Given the description of an element on the screen output the (x, y) to click on. 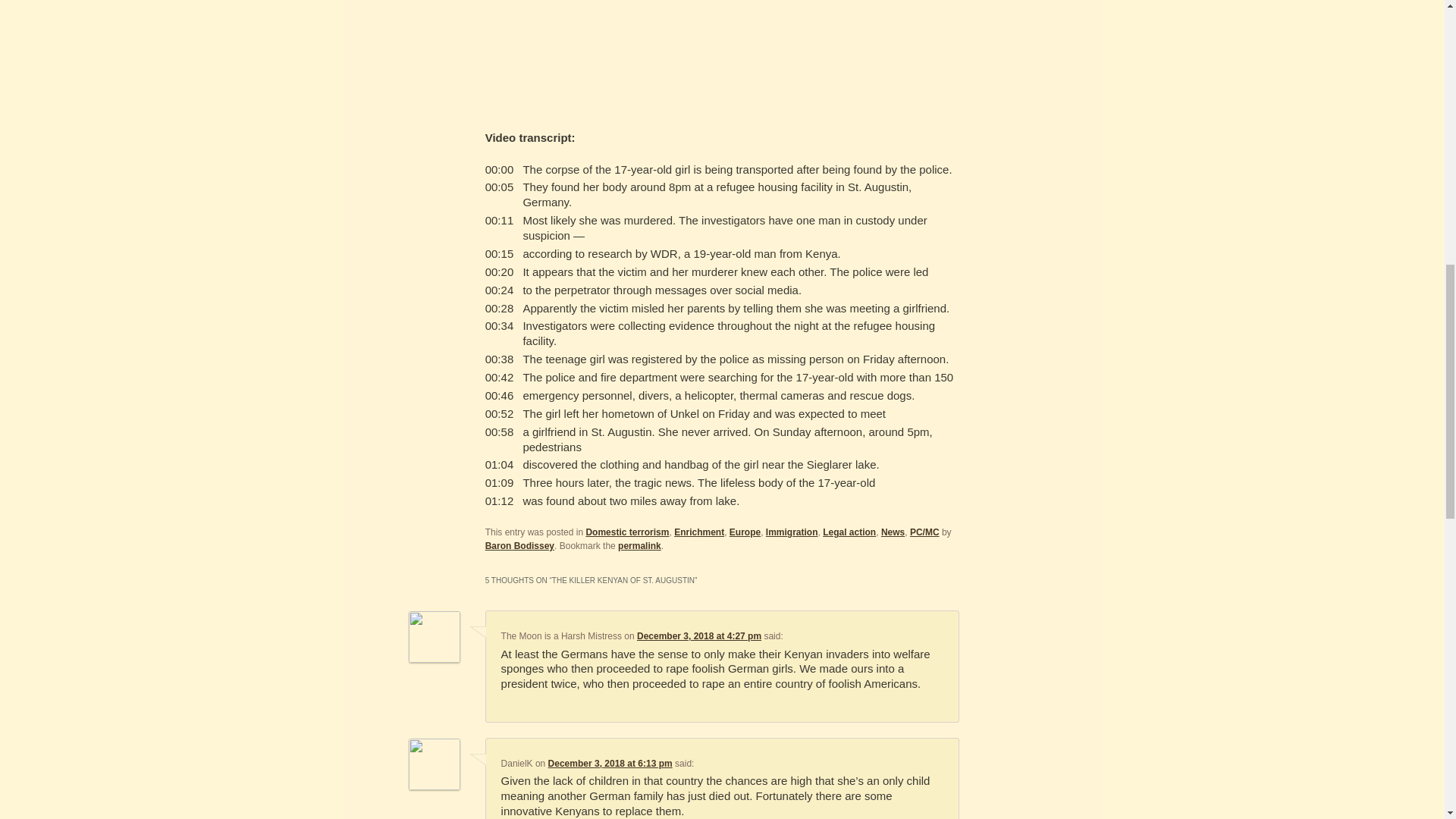
Permalink to The Killer Kenyan of St. Augustin (639, 545)
